Given the description of an element on the screen output the (x, y) to click on. 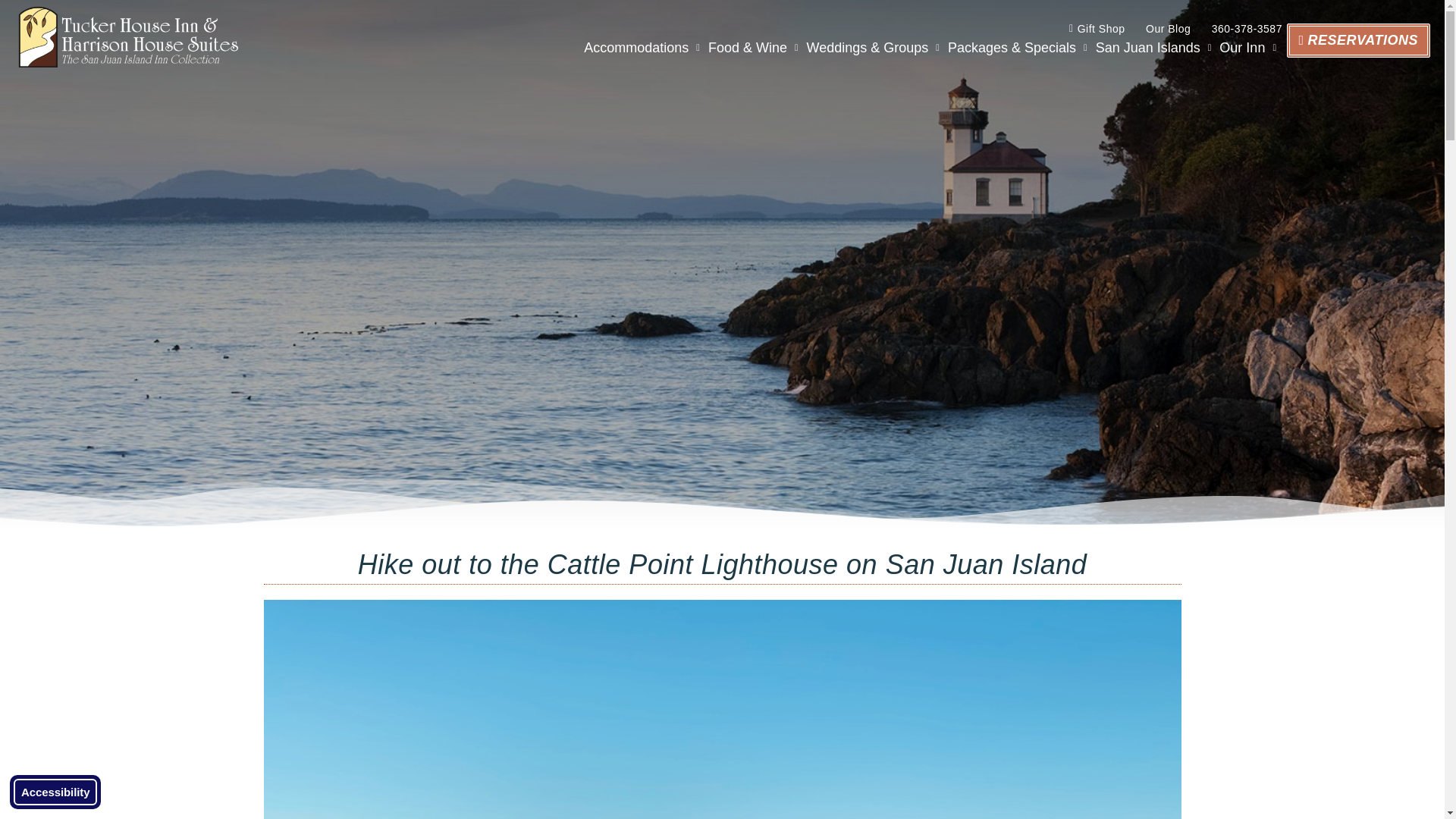
Accommodations (640, 47)
Gift Shop (1091, 28)
360-378-3587 (1237, 28)
Accessibility Menu (55, 791)
Our Blog (1159, 28)
San Juan Islands (1153, 47)
